Given the description of an element on the screen output the (x, y) to click on. 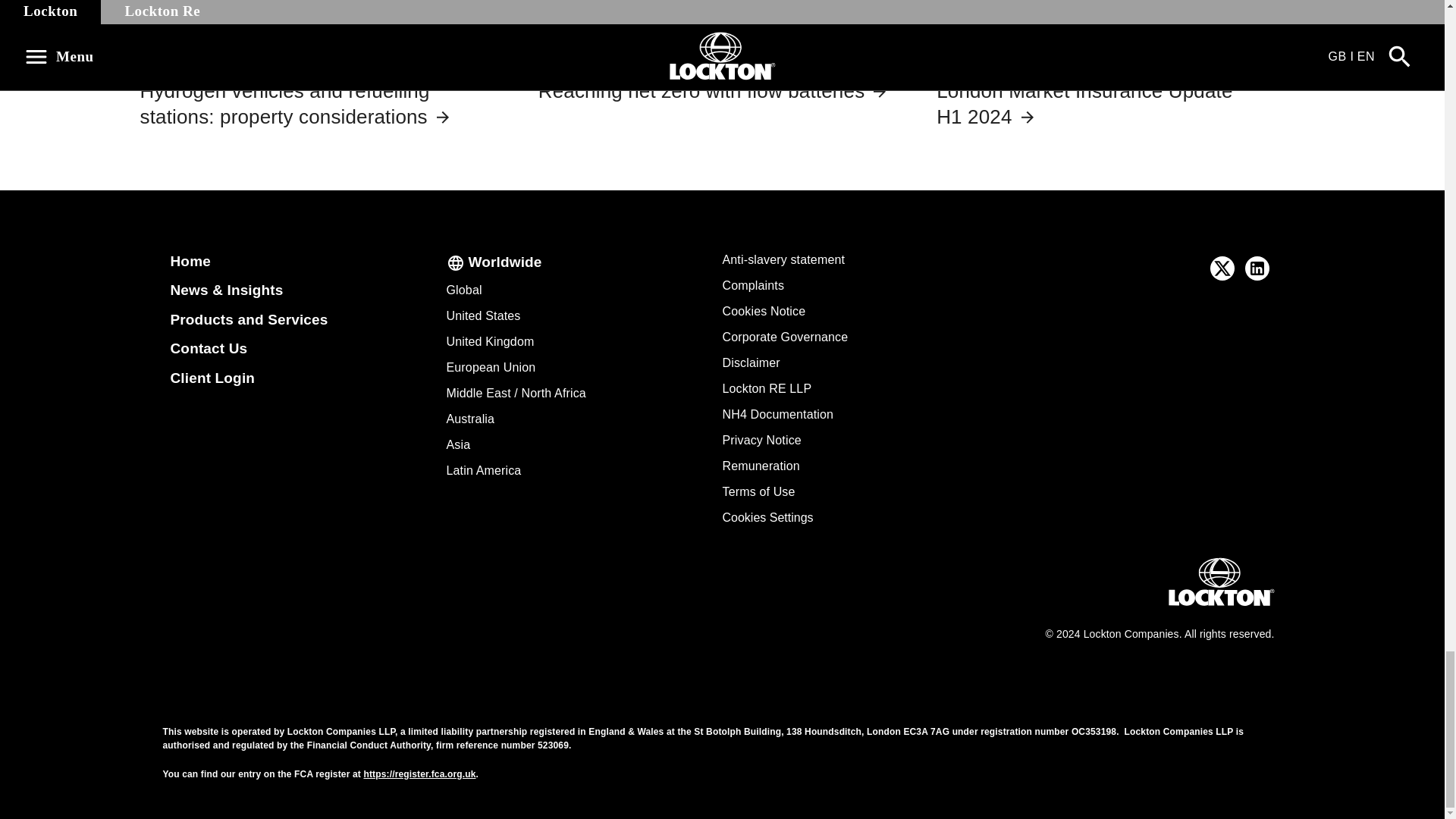
Global (463, 289)
Anti-slavery statement (783, 259)
Cookies Notice (763, 310)
European Union (490, 367)
Latin America (483, 470)
Asia (457, 444)
Follow Lockton on Twitter (1221, 268)
London Market Insurance Update H1 2024 (1083, 103)
Follow Lockton on LinkedIn (1256, 268)
Complaints (753, 285)
Client Login (212, 377)
Australia (470, 418)
Reaching net zero with flow batteries (713, 90)
Contact Us (208, 348)
